Given the description of an element on the screen output the (x, y) to click on. 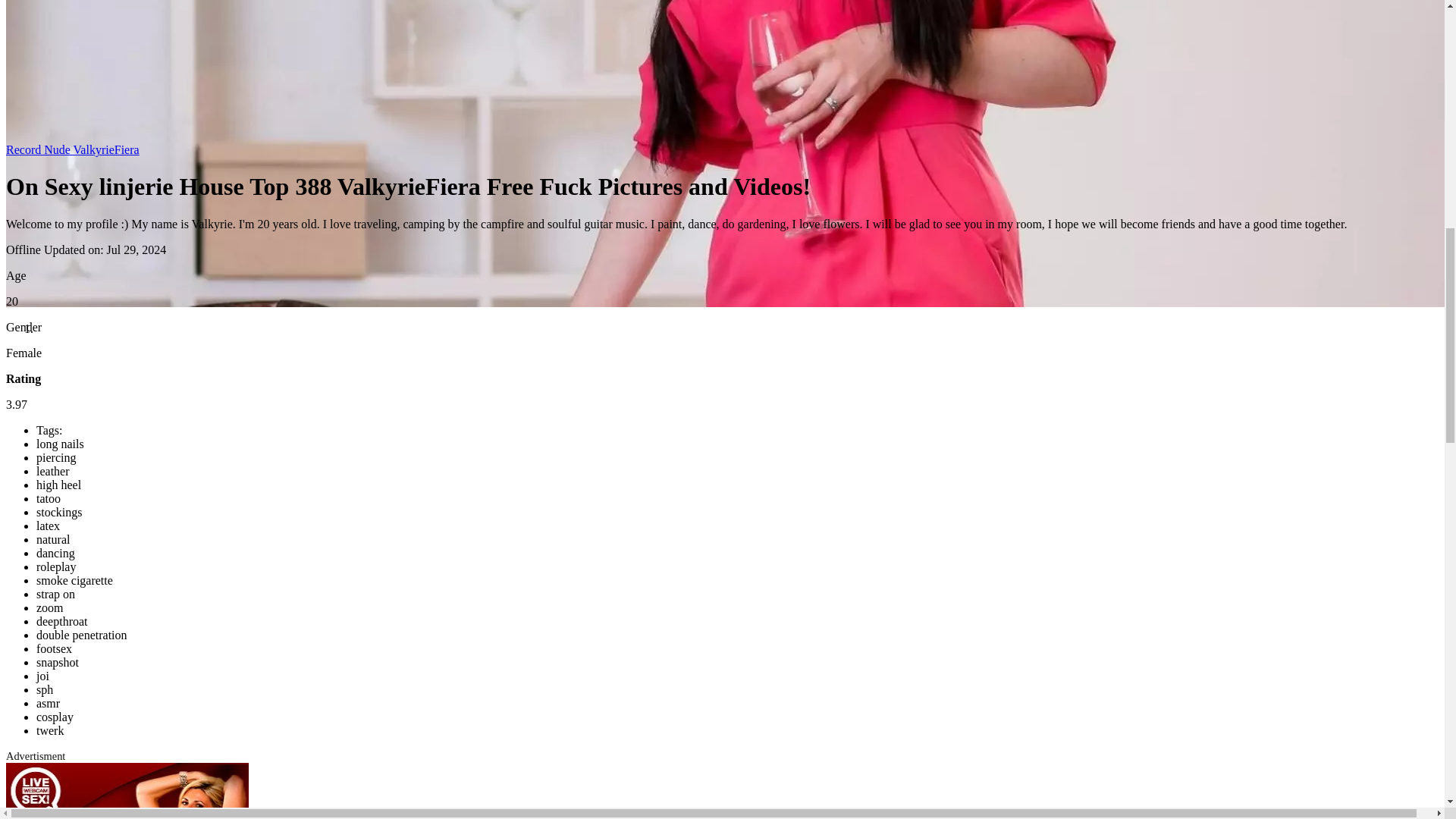
Record Nude ValkyrieFiera (72, 149)
Record Nude ValkyrieFiera (72, 149)
